Given the description of an element on the screen output the (x, y) to click on. 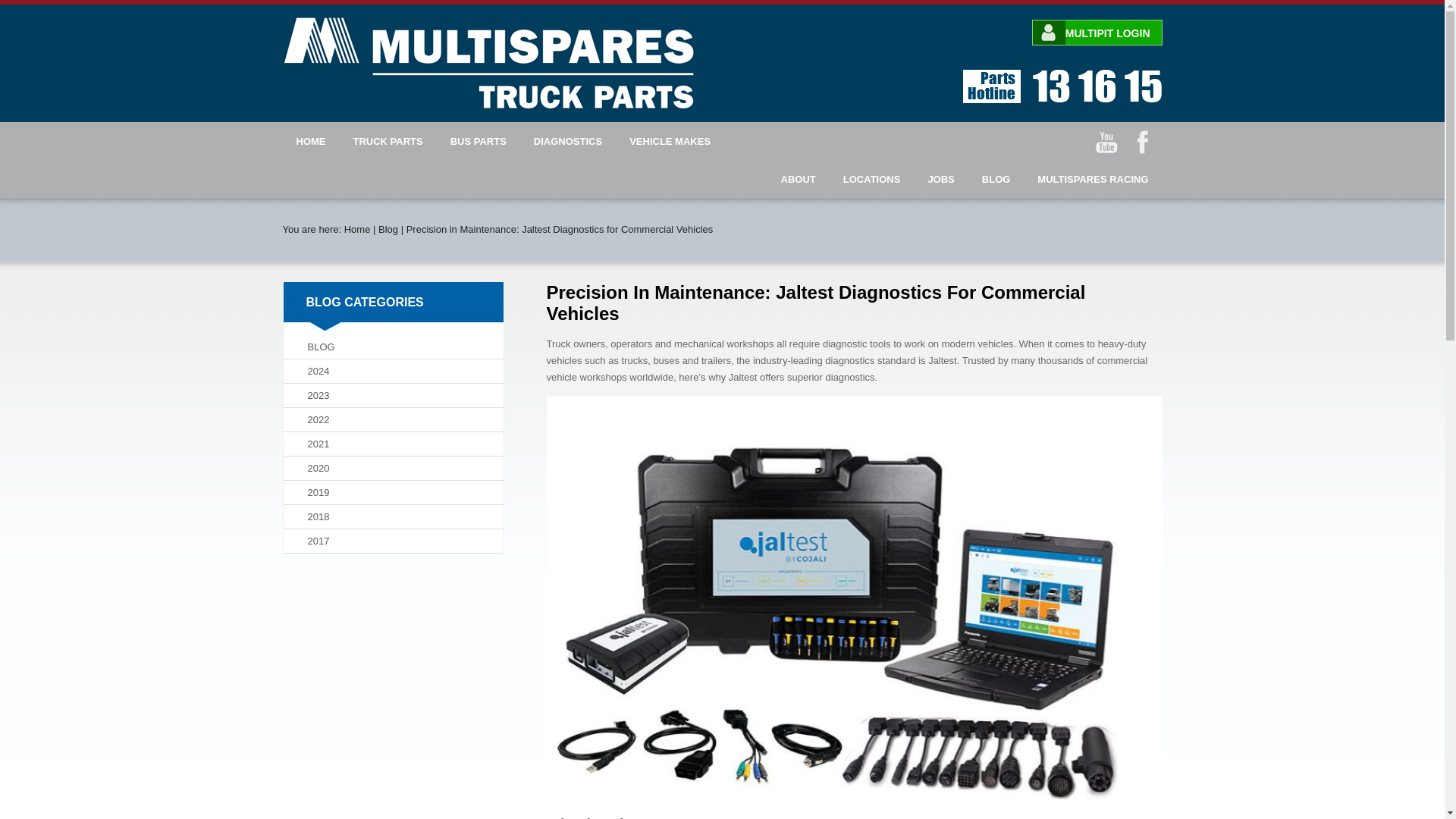
MULTIPIT LOGIN (1095, 32)
HOME (310, 141)
VEHICLE MAKES (669, 141)
LOCATIONS (871, 179)
Go to the Blog category archives. (387, 229)
Go to Blog. (357, 229)
TRUCK PARTS (387, 141)
DIAGNOSTICS (567, 141)
ABOUT (798, 179)
BUS PARTS (477, 141)
